Given the description of an element on the screen output the (x, y) to click on. 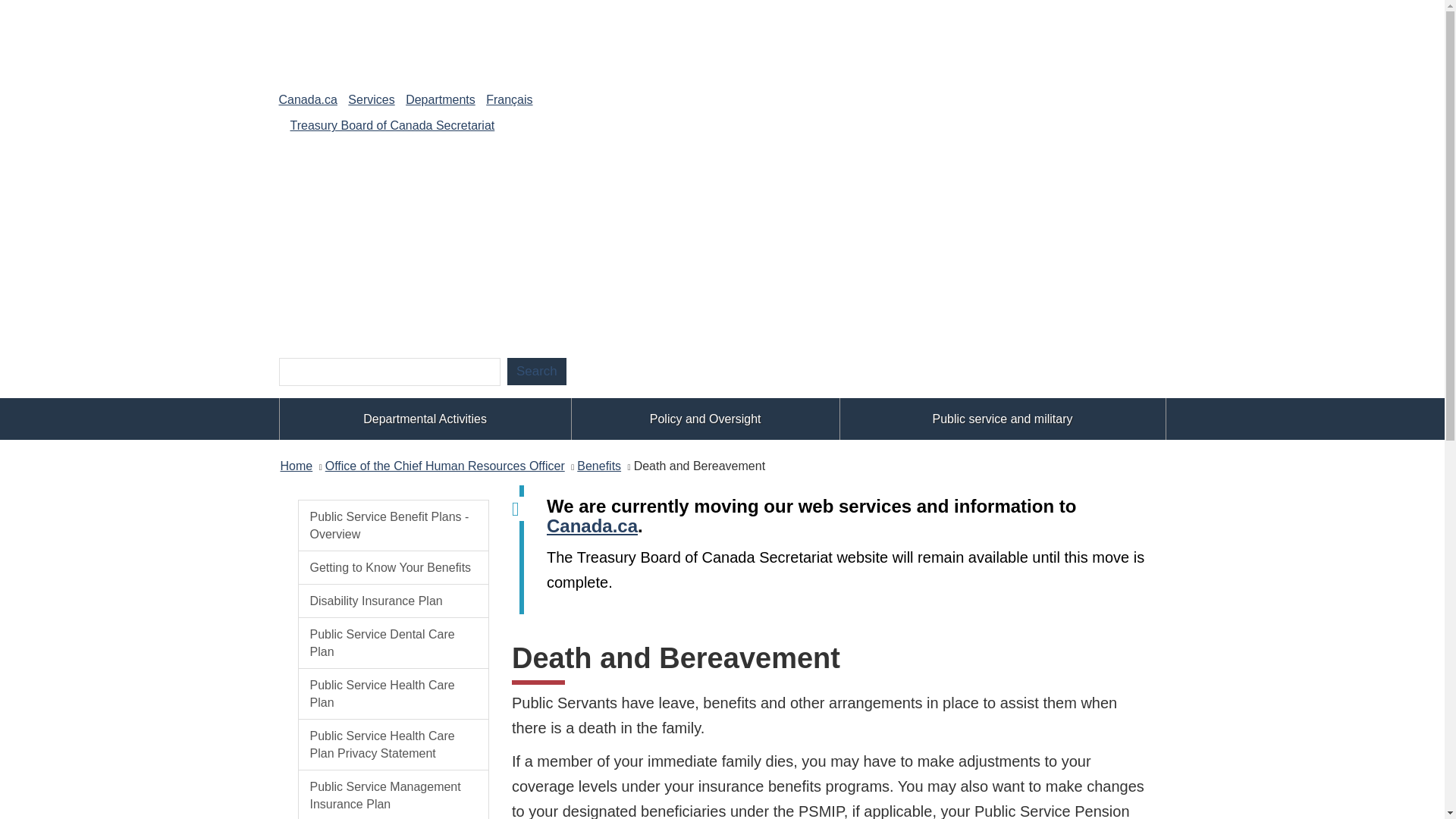
Policy and Oversight (706, 418)
Departmental Activities (424, 418)
Public Service Health Care Plan Privacy Statement (393, 744)
Public service and military (1003, 418)
Benefits (598, 465)
Disability Insurance Plan (393, 600)
Public Service Health Care Plan (393, 693)
Public Service Dental Care Plan (393, 643)
Canada.ca (592, 525)
Public Service Management Insurance Plan (393, 794)
